Given the description of an element on the screen output the (x, y) to click on. 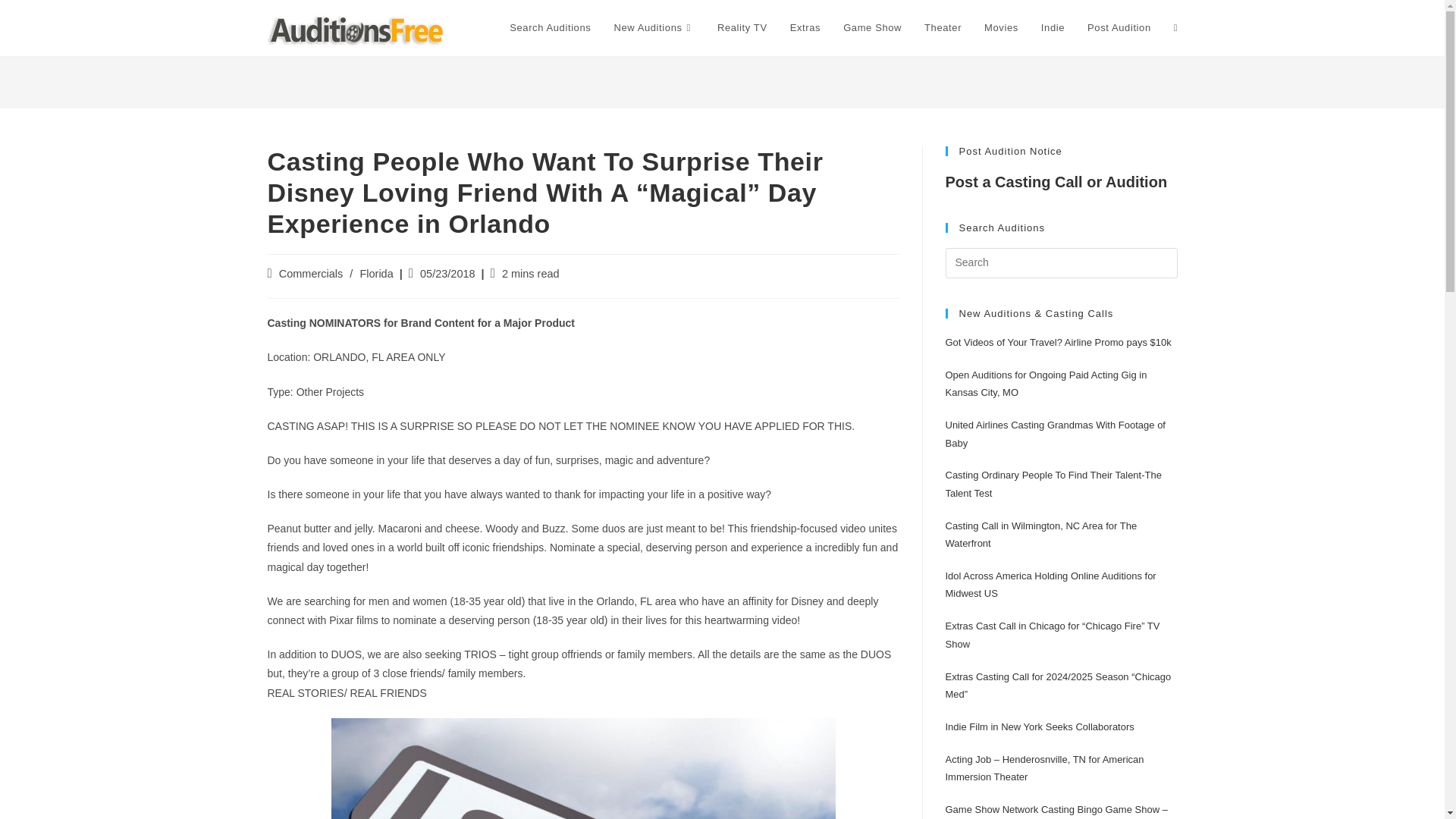
Commercials (311, 273)
New Auditions (654, 28)
Florida (376, 273)
Post Audition (1118, 28)
Reality TV (742, 28)
Search Auditions (549, 28)
Movies (1000, 28)
Extras (804, 28)
Game Show (871, 28)
Theater (942, 28)
